Given the description of an element on the screen output the (x, y) to click on. 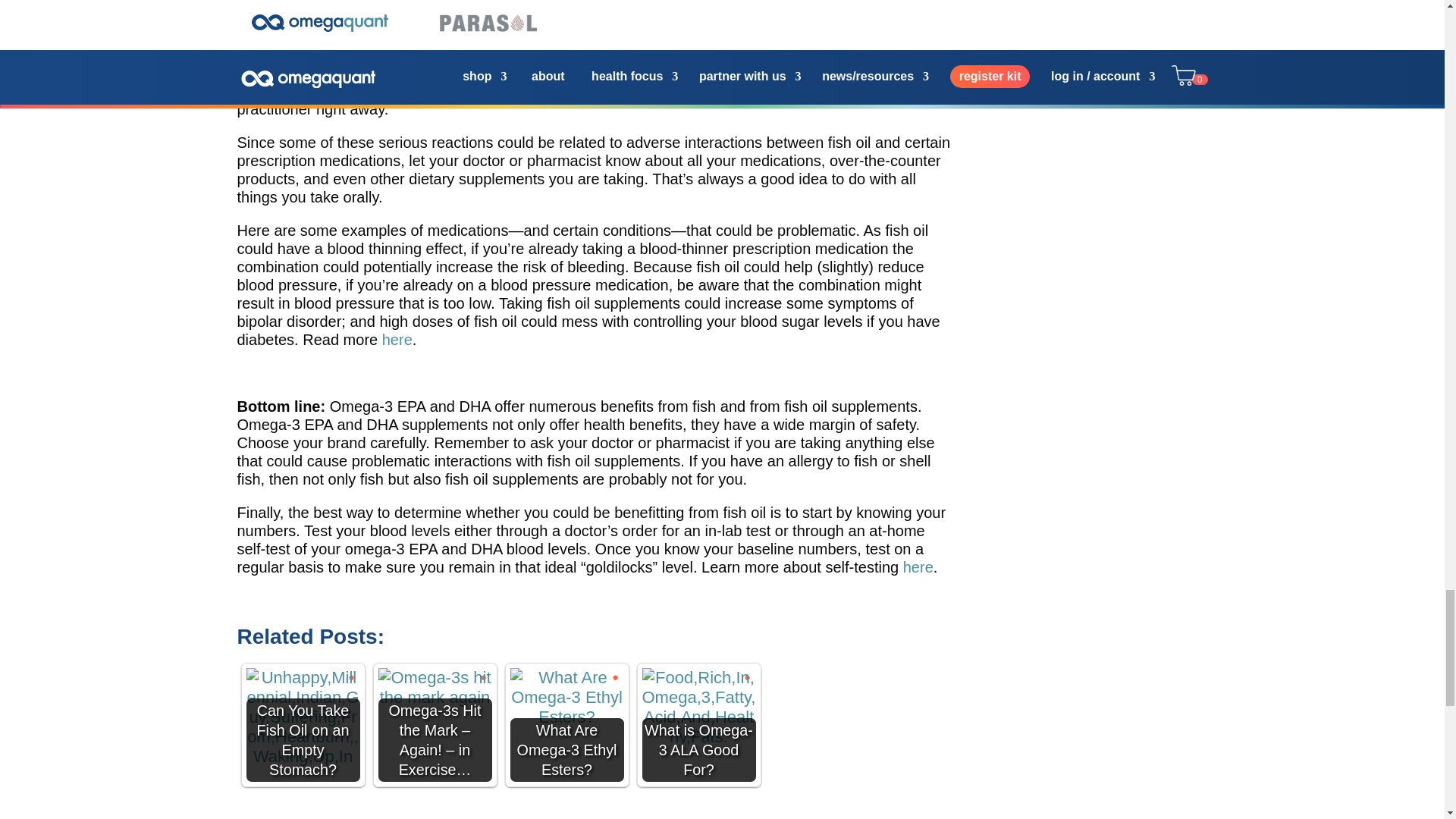
What Are Omega-3 Ethyl Esters? (566, 697)
What is Omega-3 ALA Good For? (698, 707)
Can You Take Fish Oil on an Empty Stomach? (302, 717)
